Given the description of an element on the screen output the (x, y) to click on. 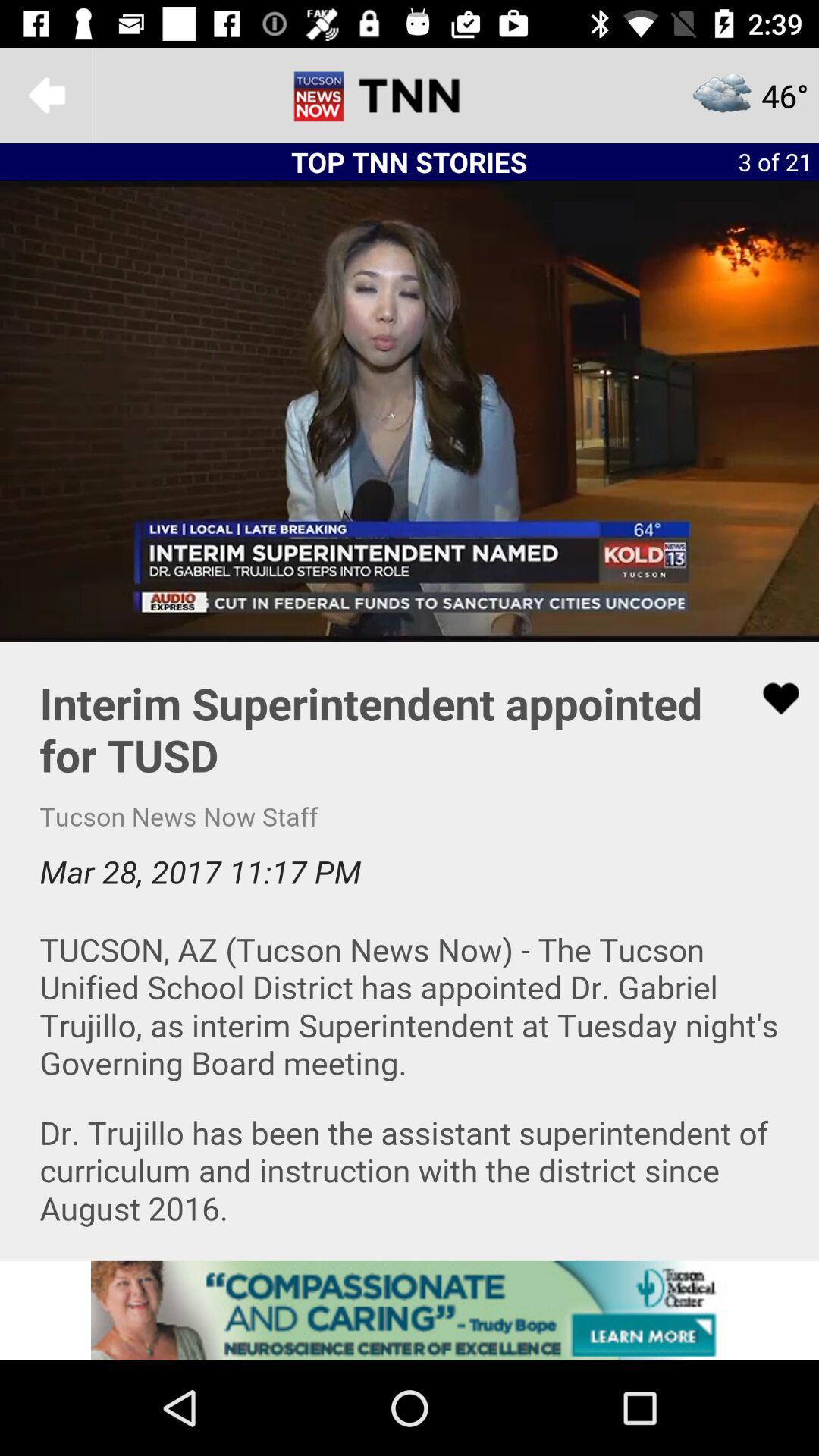
like button (771, 698)
